Given the description of an element on the screen output the (x, y) to click on. 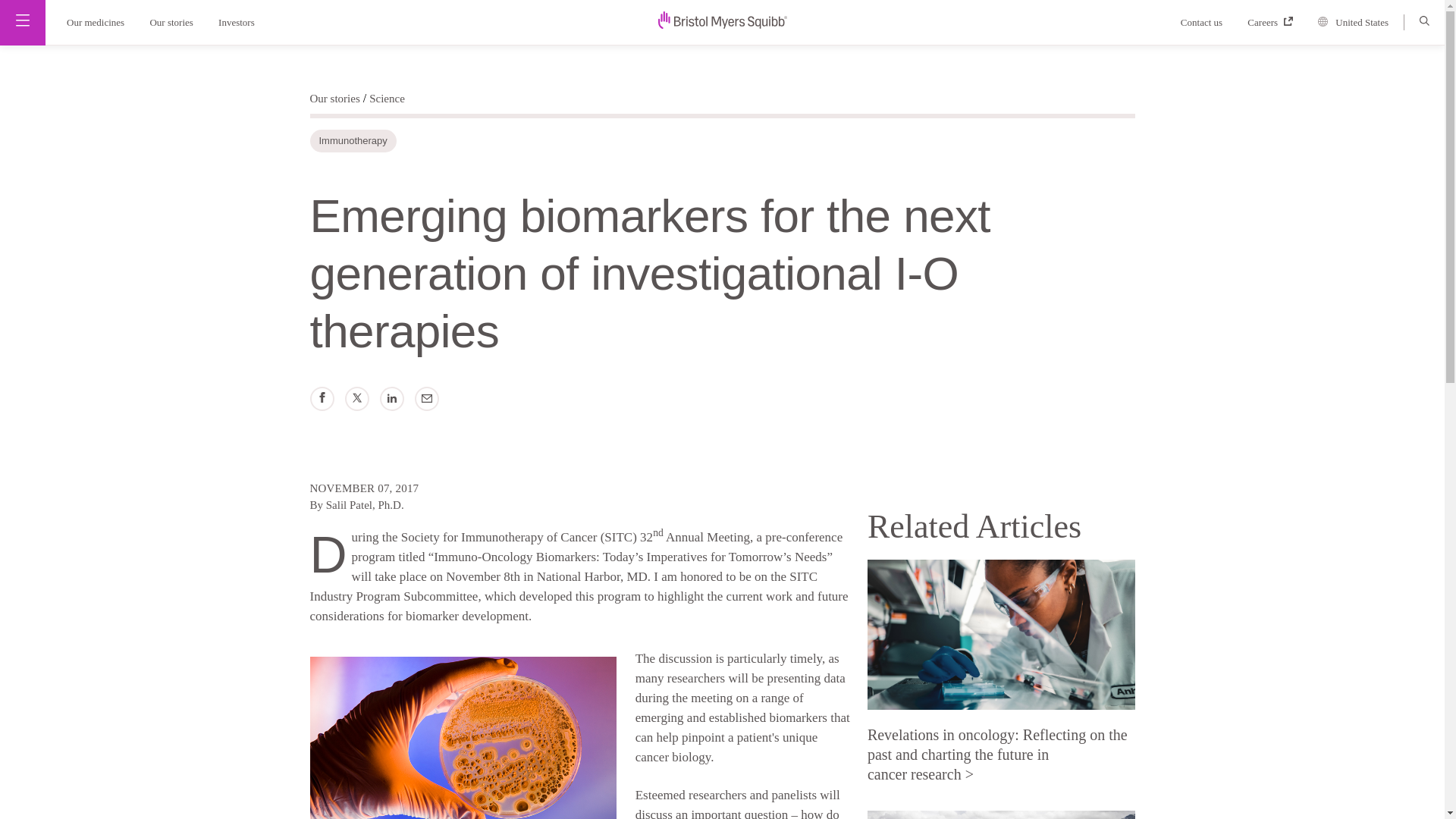
Our medicines (91, 21)
Careers (1276, 21)
United States (1359, 22)
Our stories (172, 21)
Main Menu (22, 20)
Investors (241, 21)
bms (722, 24)
null (722, 19)
Contact us (1208, 21)
